Given the description of an element on the screen output the (x, y) to click on. 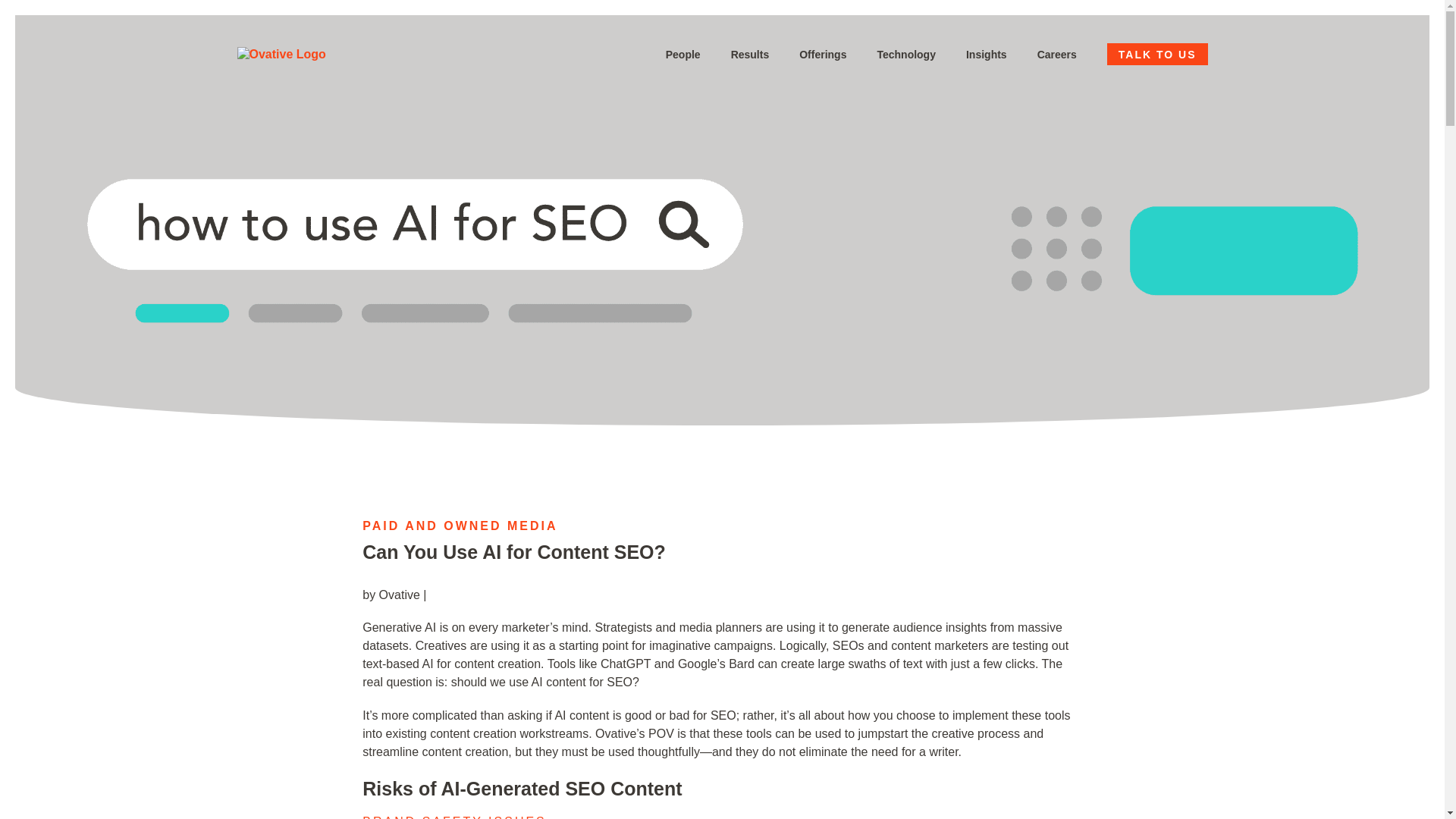
Careers (1056, 54)
TALK TO US (1157, 54)
Insights (986, 54)
People (682, 54)
Offerings (822, 54)
Technology (906, 54)
Results (750, 54)
Ovative Home (279, 54)
